Given the description of an element on the screen output the (x, y) to click on. 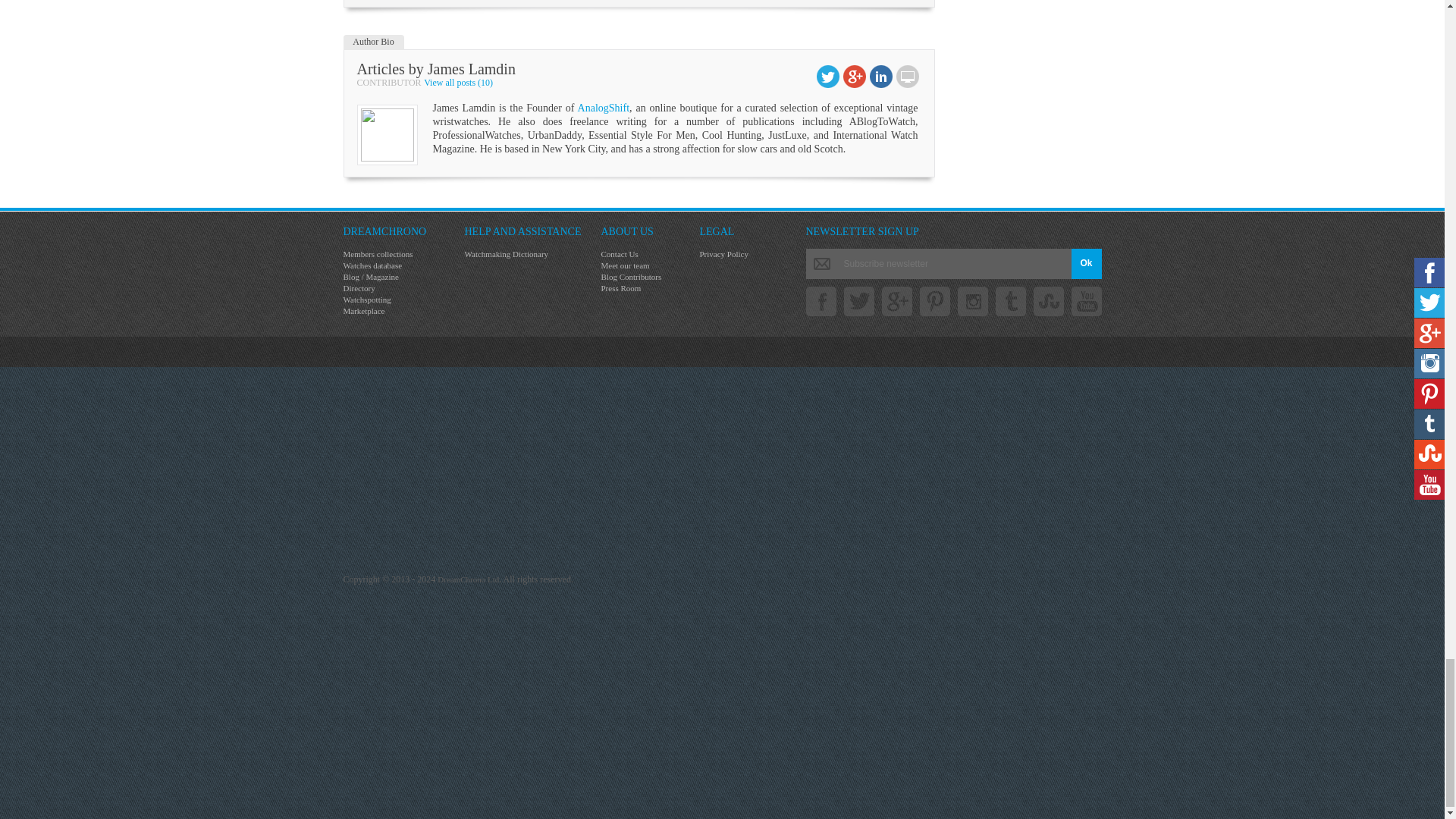
Ok (1085, 263)
